Given the description of an element on the screen output the (x, y) to click on. 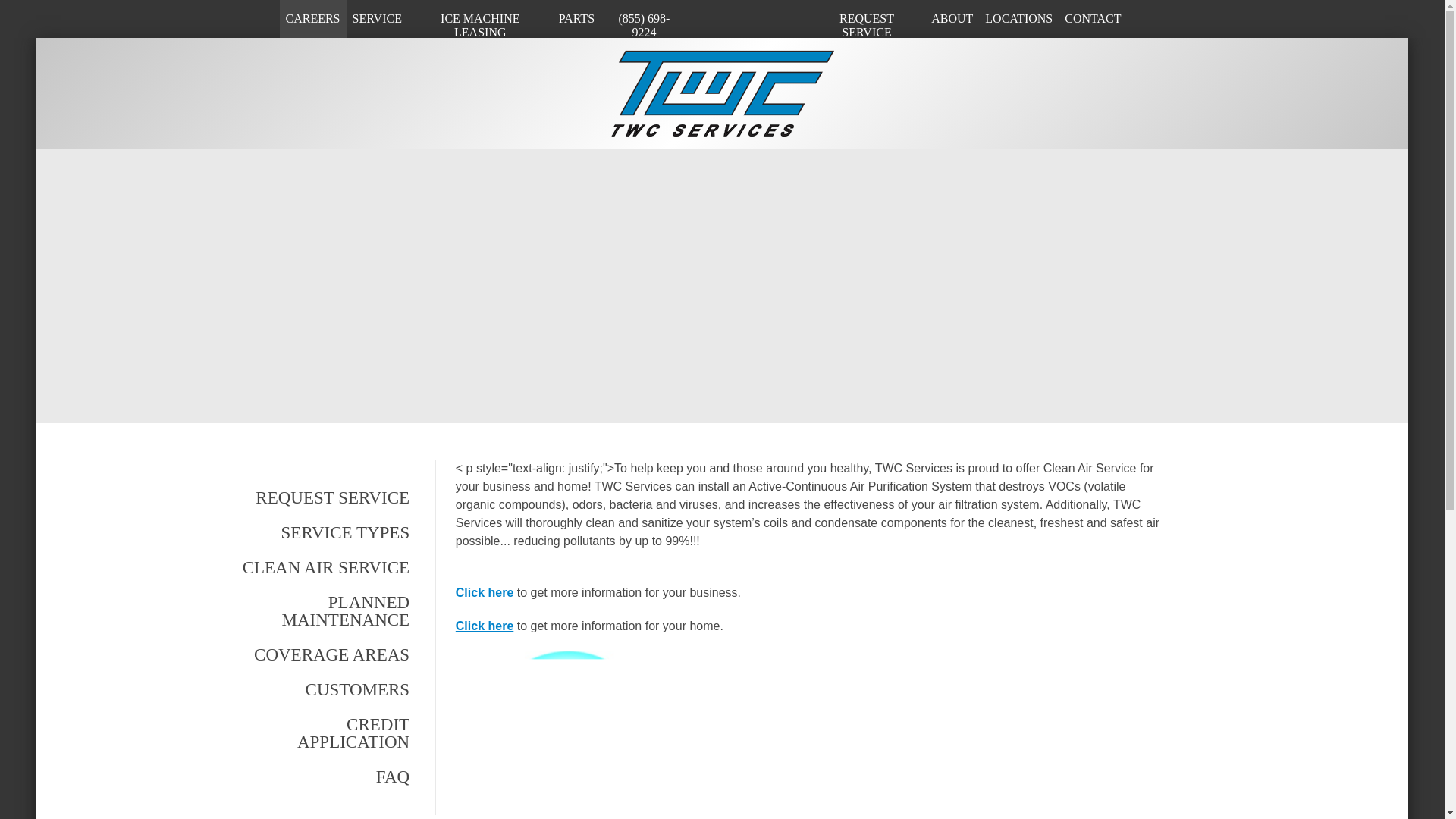
ABOUT (951, 18)
Click here (484, 625)
REQUEST SERVICE (322, 497)
CAREERS (312, 18)
Click here (484, 592)
REQUEST SERVICE (866, 26)
COVERAGE AREAS (322, 654)
LOCATIONS (1018, 18)
ICE MACHINE LEASING (480, 26)
CREDIT APPLICATION (322, 732)
PARTS (576, 18)
SERVICE TYPES (322, 532)
CLEAN AIR SERVICE (322, 566)
CUSTOMERS (322, 688)
